Given the description of an element on the screen output the (x, y) to click on. 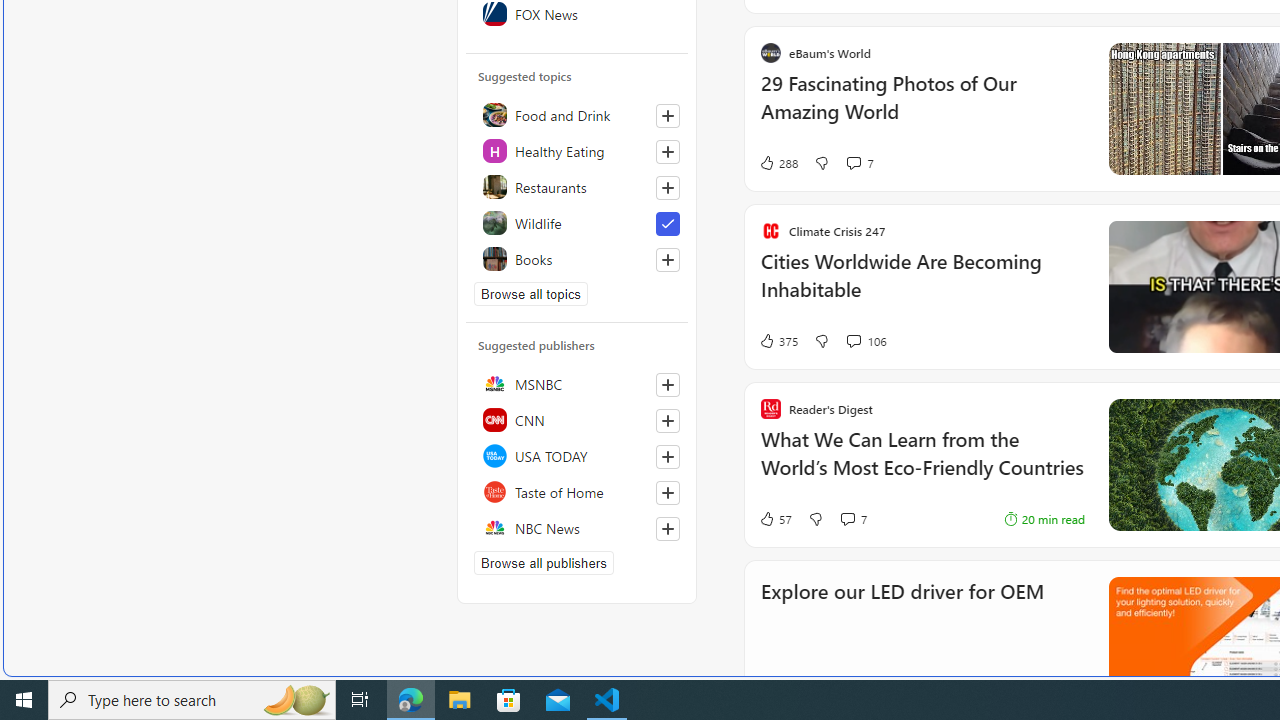
57 Like (775, 518)
Unfollow this topic (667, 223)
Books (577, 258)
Cities Worldwide Are Becoming Inhabitable (922, 285)
29 Fascinating Photos of Our Amazing World (922, 107)
NBC News (577, 528)
View comments 7 Comment (847, 519)
MSNBC (577, 384)
Browse all publishers (543, 562)
